Given the description of an element on the screen output the (x, y) to click on. 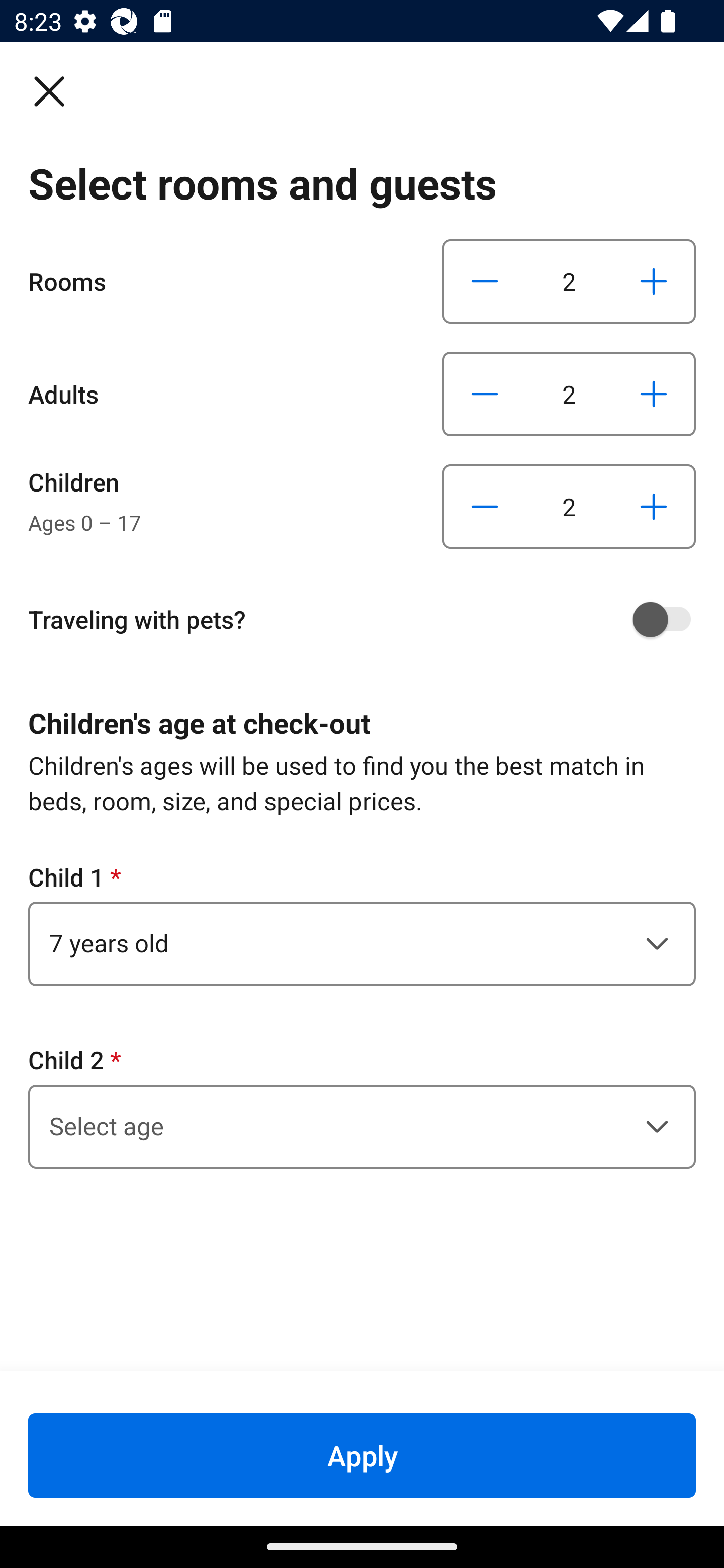
Decrease (484, 281)
Increase (653, 281)
Decrease (484, 393)
Increase (653, 393)
Decrease (484, 506)
Increase (653, 506)
Traveling with pets? (369, 619)
Child 1
required Child 1 * 7 years old (361, 922)
Child 2
required Child 2 * Select age (361, 1105)
Apply (361, 1454)
